Given the description of an element on the screen output the (x, y) to click on. 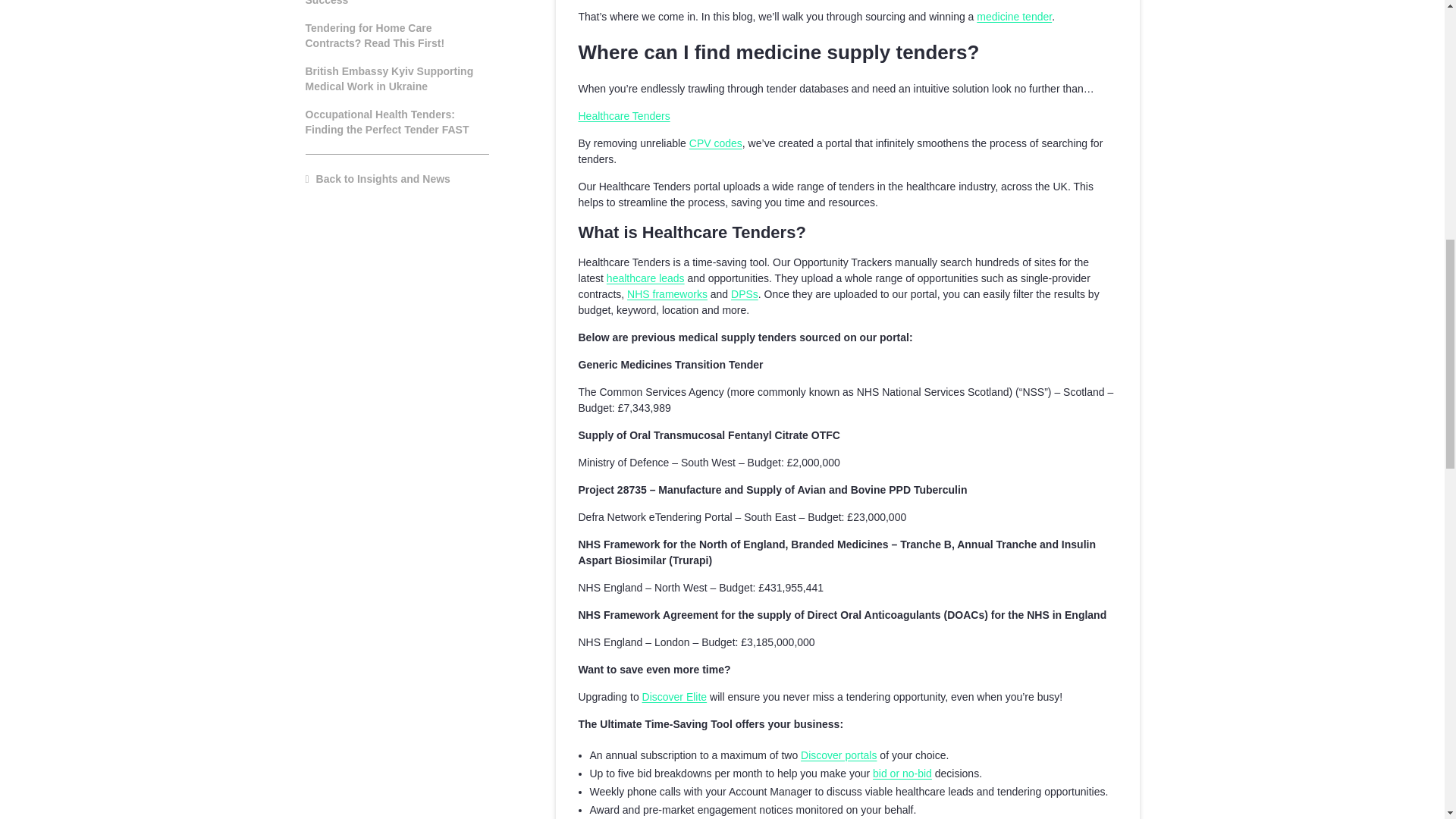
Tendering for Home Care Contracts? Read This First! (395, 35)
Hospital Bids: The Secrets to Success (395, 3)
Healthcare Tenders (623, 115)
NHS frameworks (667, 294)
Discover Elite (674, 696)
DPSs (744, 294)
bid or no-bid (901, 773)
CPV codes (715, 143)
healthcare leads (645, 277)
British Embassy Kyiv Supporting Medical Work in Ukraine (395, 78)
